Given the description of an element on the screen output the (x, y) to click on. 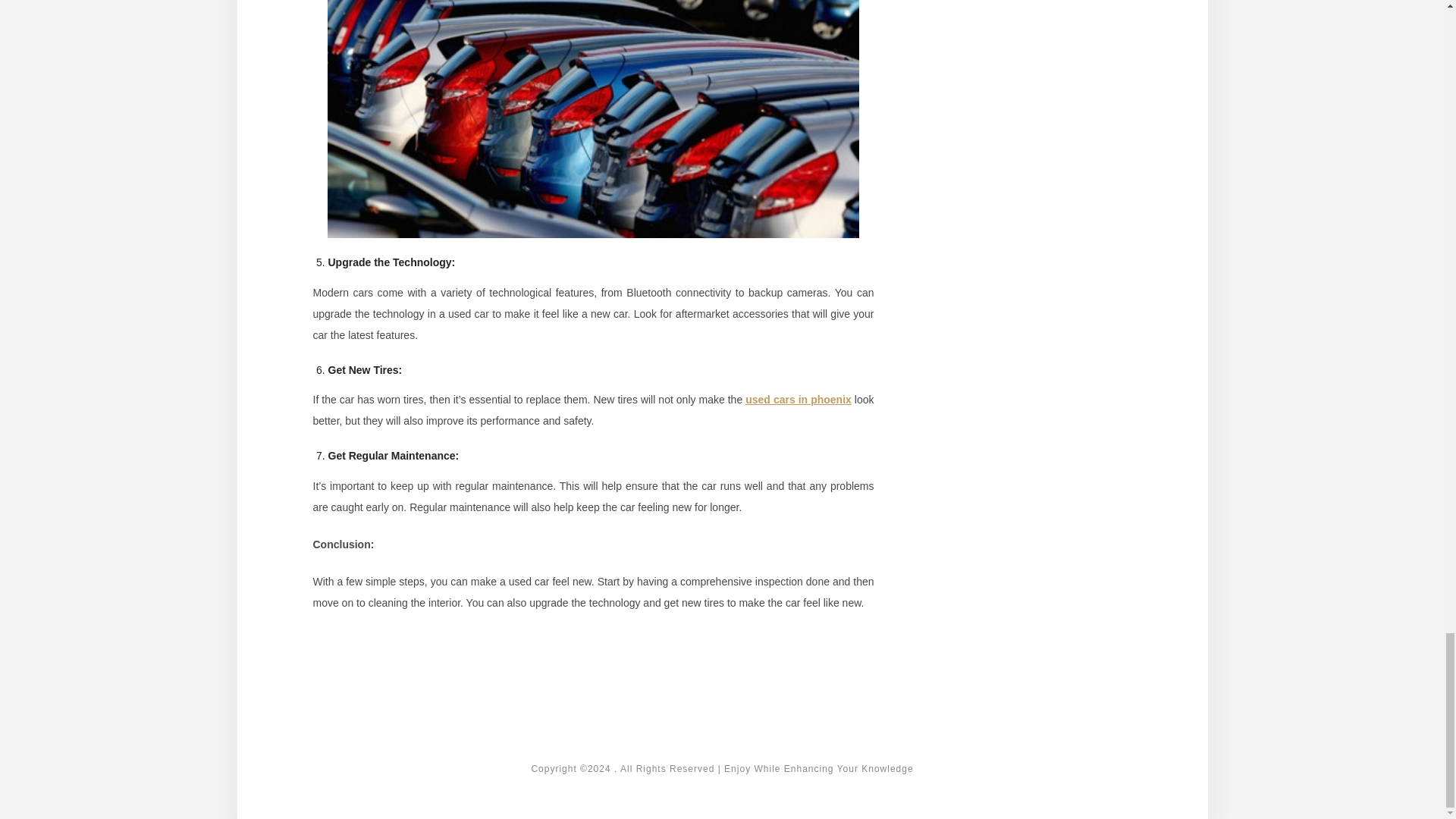
used cars in phoenix (798, 399)
